Given the description of an element on the screen output the (x, y) to click on. 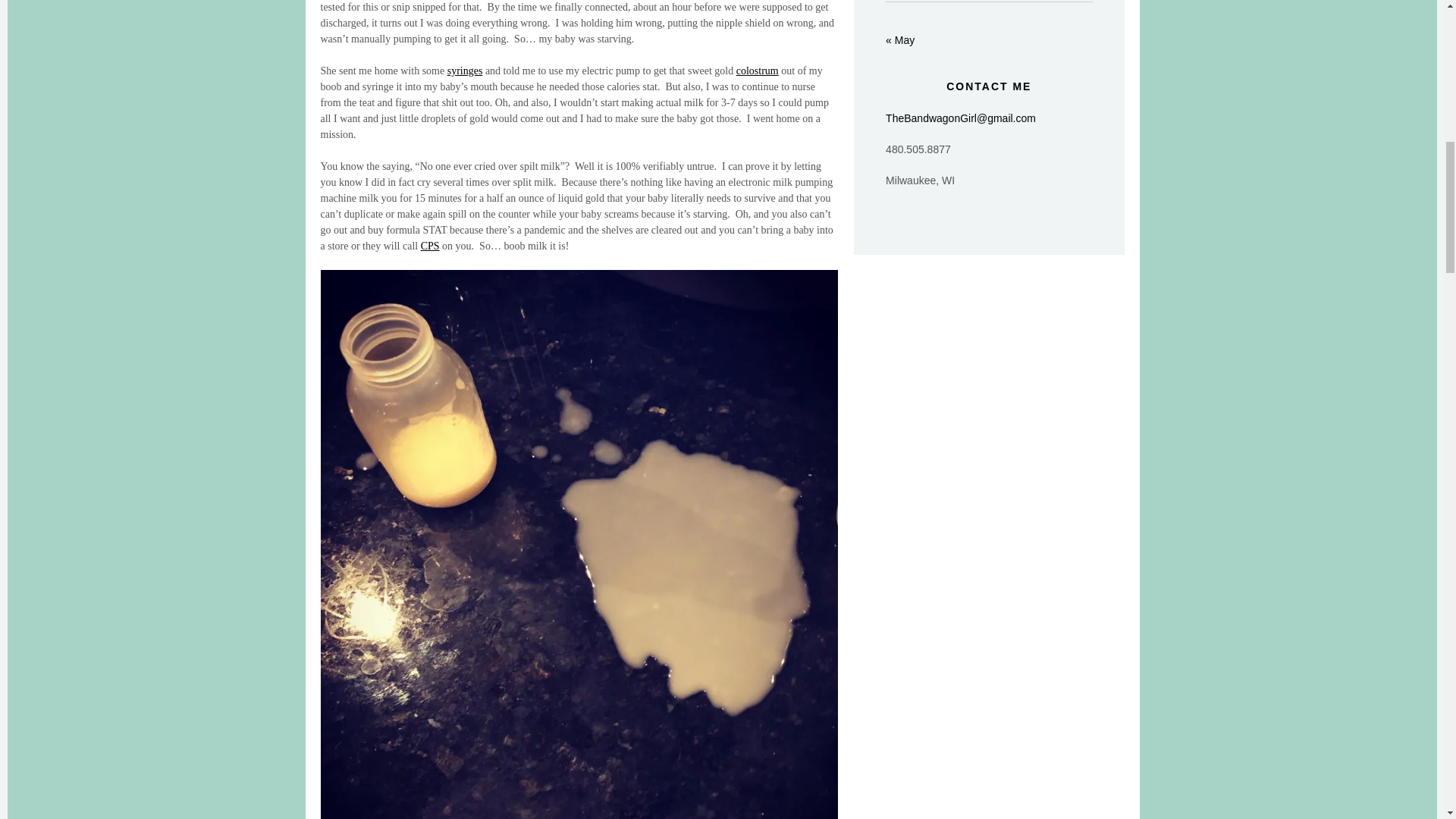
colostrum (757, 70)
syringes (464, 70)
CPS (429, 245)
